Given the description of an element on the screen output the (x, y) to click on. 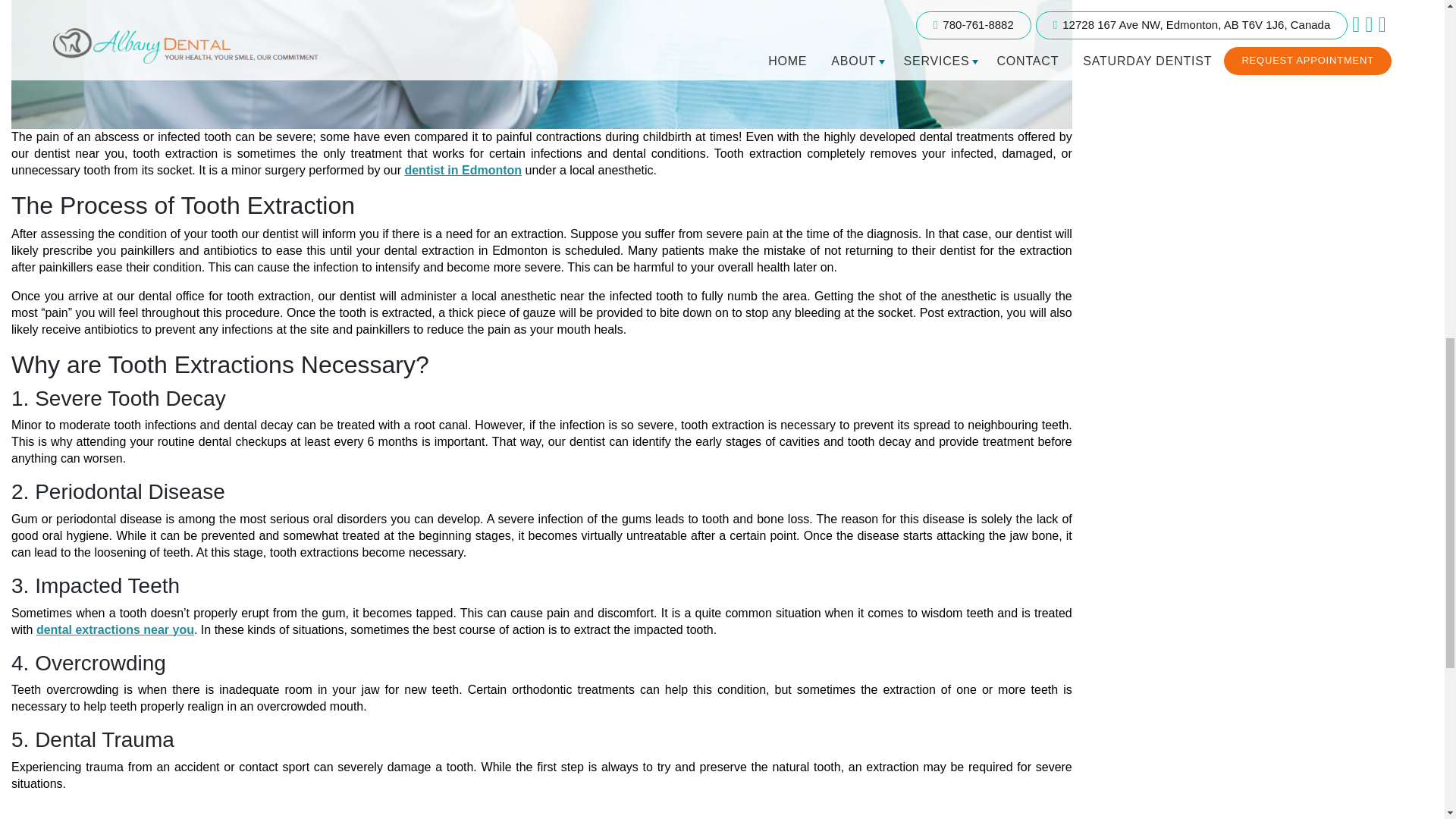
dental extractions near you (114, 629)
dentist in Edmonton (462, 169)
